Given the description of an element on the screen output the (x, y) to click on. 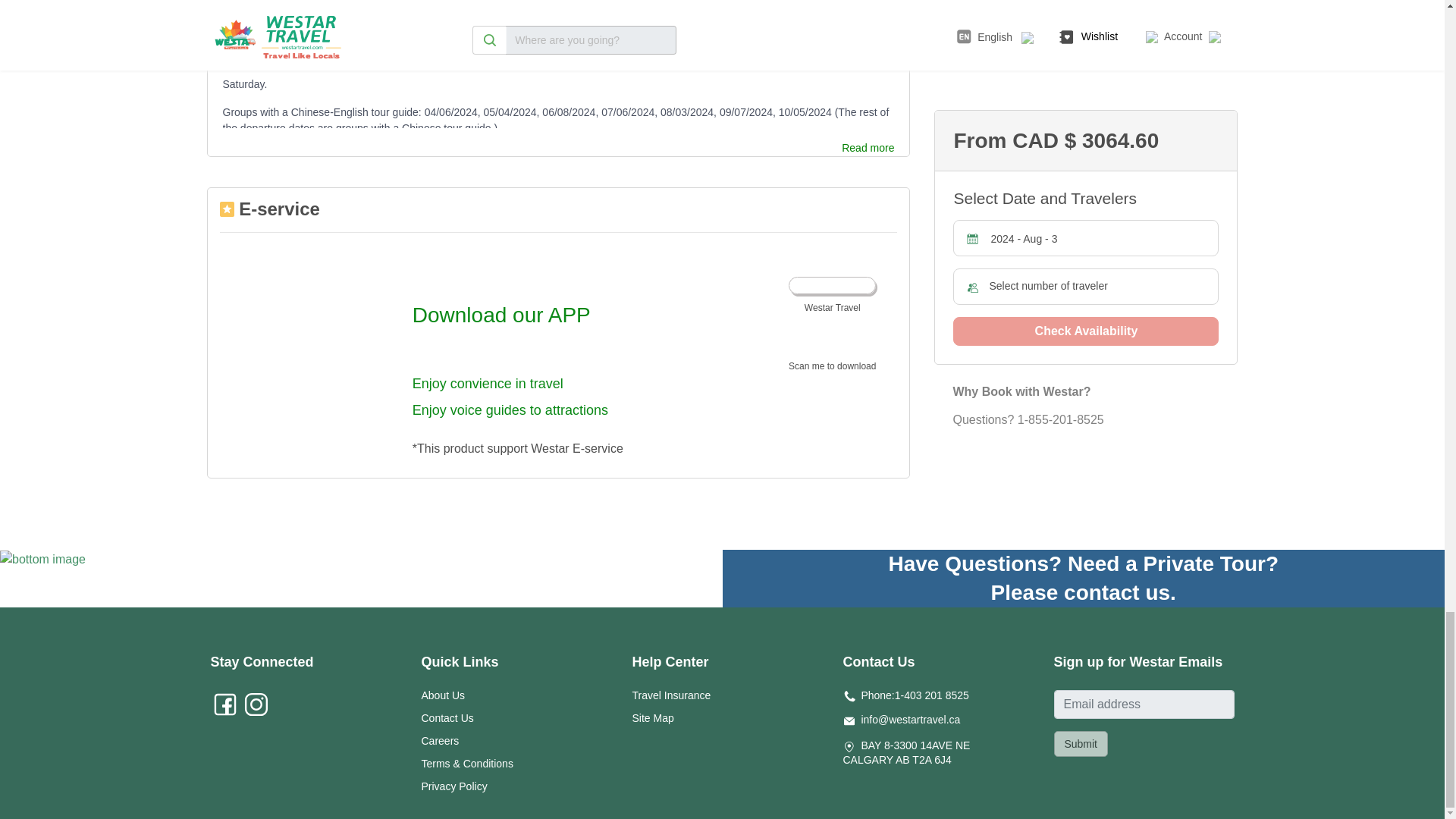
phone (849, 695)
Contact Us (448, 717)
About Us (443, 695)
